Given the description of an element on the screen output the (x, y) to click on. 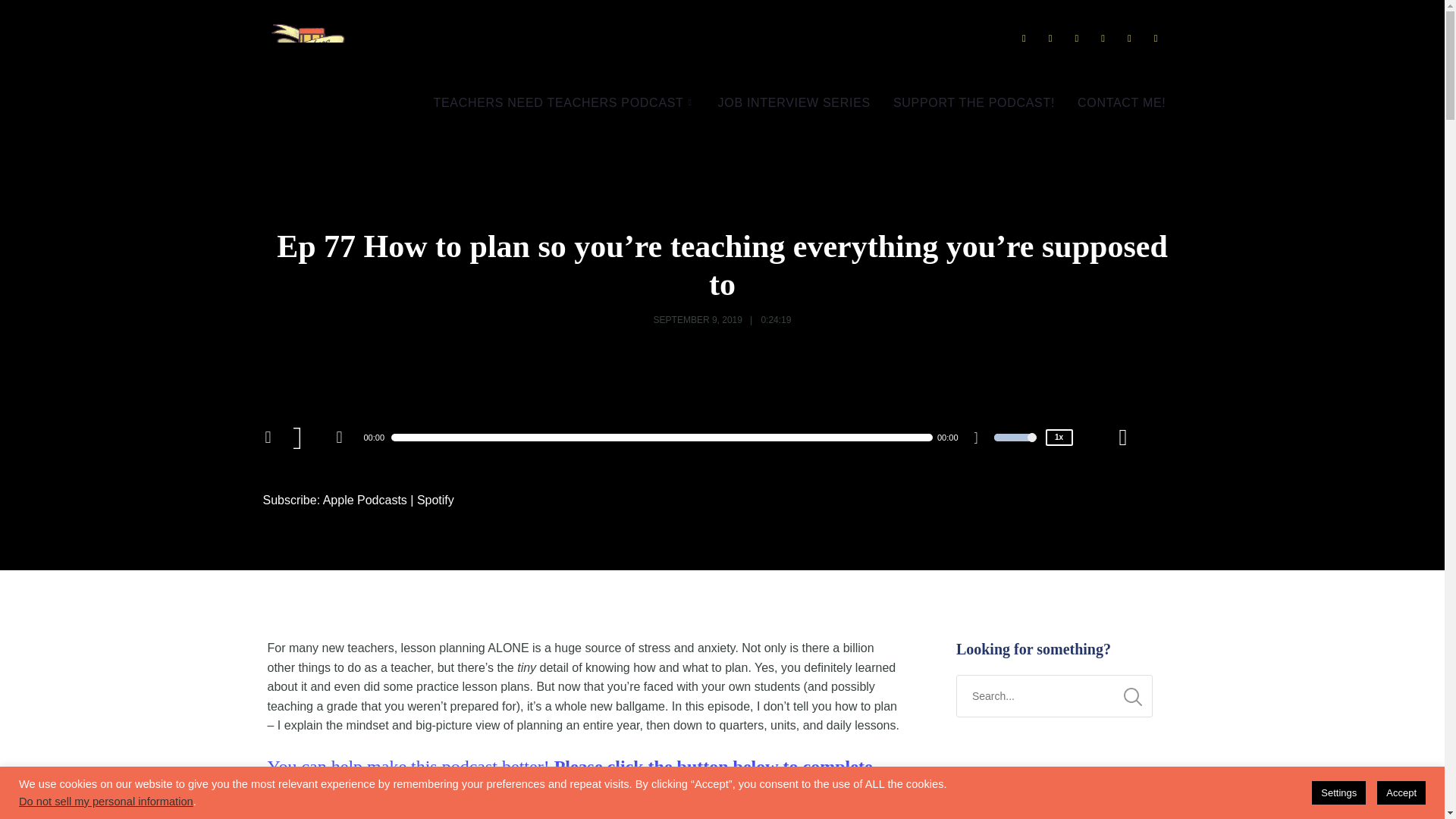
SUPPORT THE PODCAST! (973, 102)
Mute (981, 439)
1x (1058, 437)
Apple Podcasts (365, 499)
JOB INTERVIEW SERIES (794, 102)
Spotify (435, 499)
TEACHERS NEED TEACHERS PODCAST (564, 102)
Speed Rate (1058, 437)
CONTACT ME! (1120, 102)
